Given the description of an element on the screen output the (x, y) to click on. 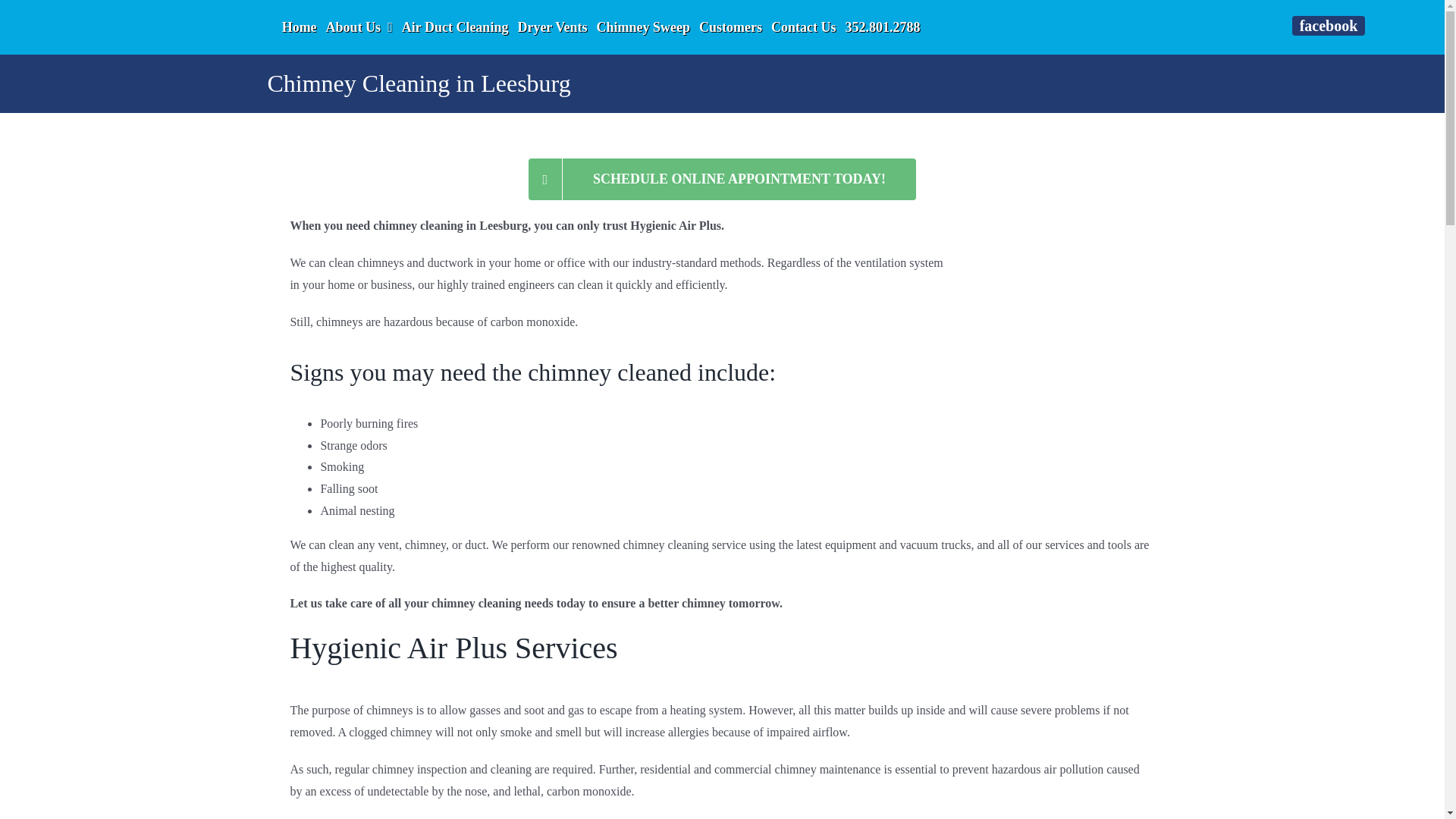
Contact Us (803, 27)
Air Duct Cleaning (454, 27)
SCHEDULE ONLINE APPOINTMENT TODAY! (721, 178)
facebook (1328, 25)
Customers (729, 27)
352.801.2788 (882, 27)
Chimney Sweep (643, 27)
Home (299, 27)
About Us (359, 27)
Dryer Vents (551, 27)
SCHEDULE ONLINE APPOINTMENT TODAY! (721, 178)
